Given the description of an element on the screen output the (x, y) to click on. 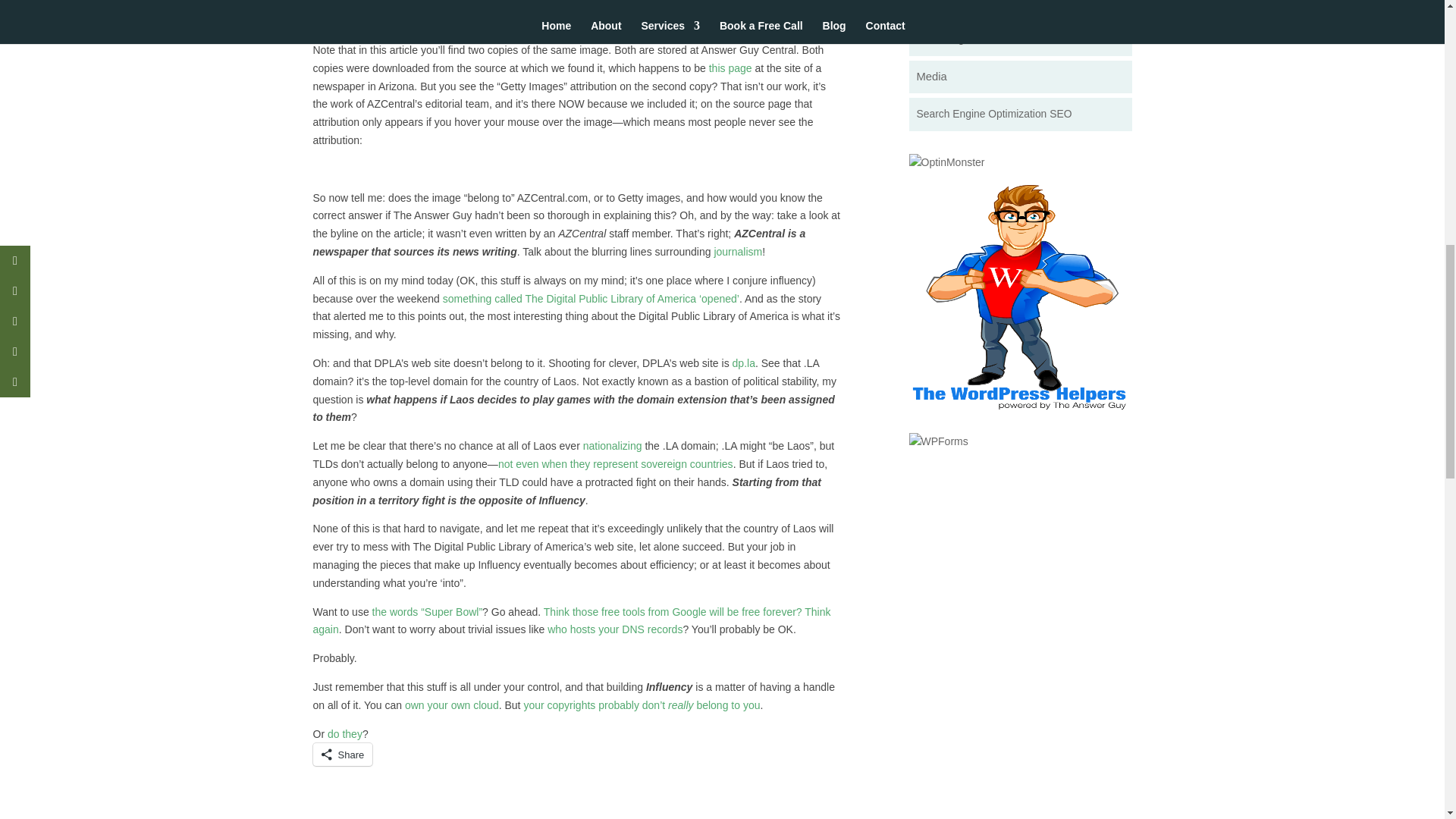
Who Owns Your Copyrights? (641, 705)
Super Bowl Trademark (427, 612)
not even when they represent sovereign countries (615, 463)
Journalism (737, 251)
The Digital Public Library of America (743, 363)
journalism (737, 251)
dp.la (743, 363)
do they (344, 734)
this page (730, 68)
who hosts your DNS records (614, 629)
Google Apps, Free Tools, and Business Change (571, 621)
own your own cloud (451, 705)
nationalizing (612, 445)
